Given the description of an element on the screen output the (x, y) to click on. 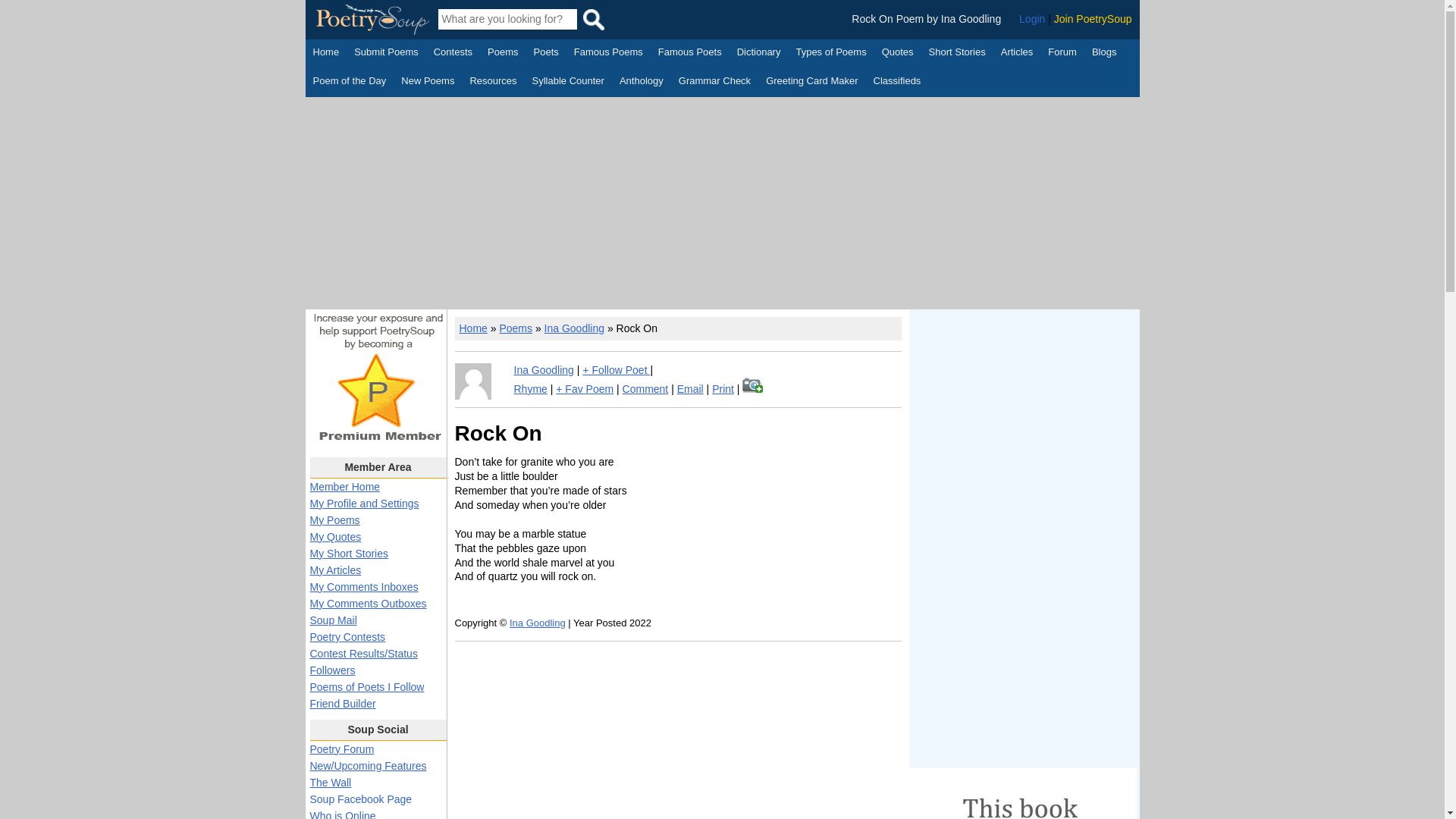
Member Home (344, 486)
Famous Poems (608, 53)
Poetry Contests (452, 53)
Anthology (641, 82)
Forum (1062, 53)
Submit Poems (386, 53)
Blogs (1104, 53)
Short Stories (956, 53)
Famous Poems (608, 53)
My Profile and Settings (363, 503)
Poems (502, 53)
Quotes (898, 53)
PoetrySoup Registration (1093, 19)
Articles (1017, 53)
Resources (492, 82)
